Given the description of an element on the screen output the (x, y) to click on. 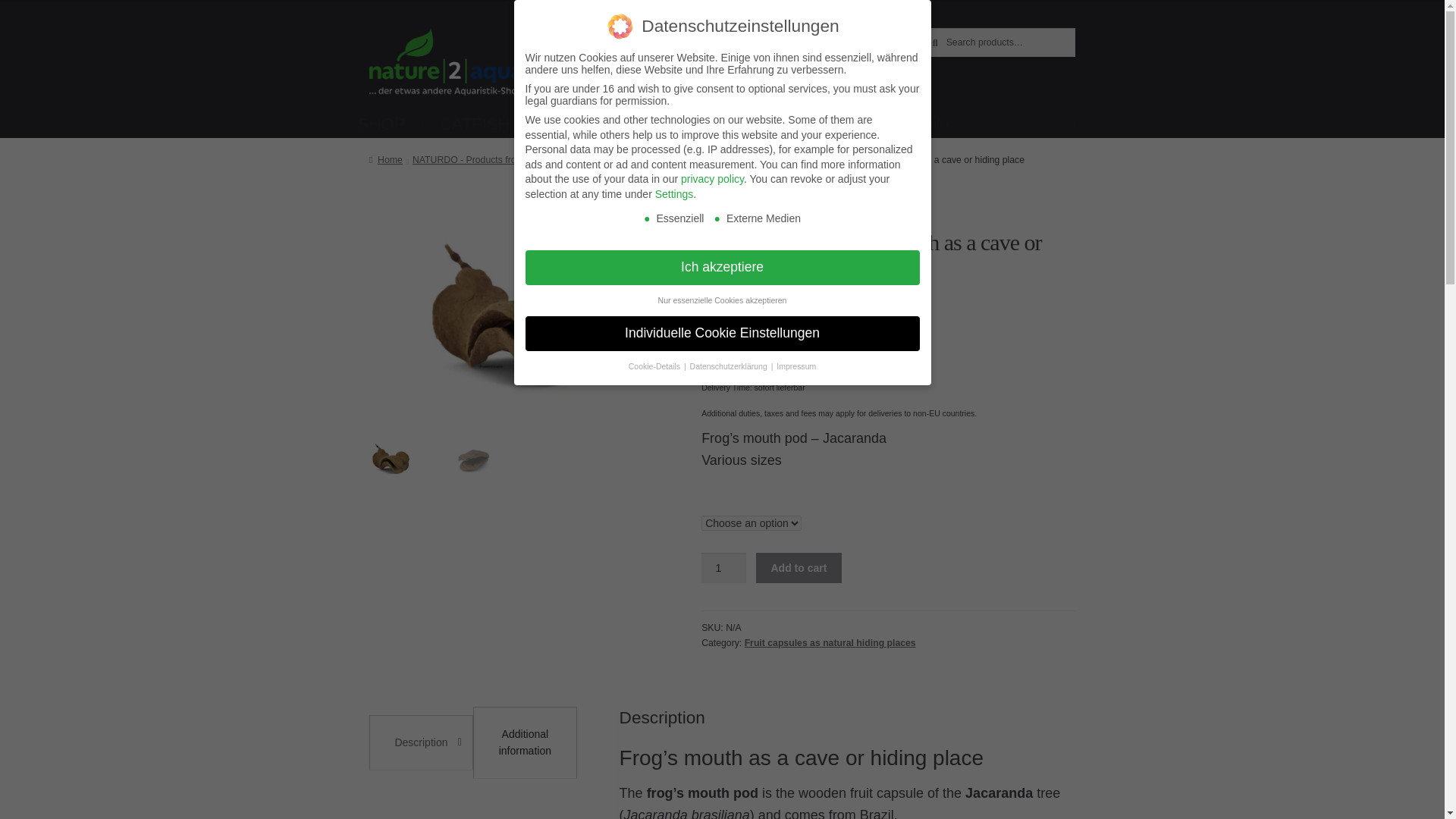
Froschmaul-1 (514, 326)
Checkout (840, 34)
Register as a merchant (704, 34)
SHOP (391, 124)
1 (723, 567)
Cart (877, 34)
View your shopping cart (998, 121)
My account (786, 34)
